Given the description of an element on the screen output the (x, y) to click on. 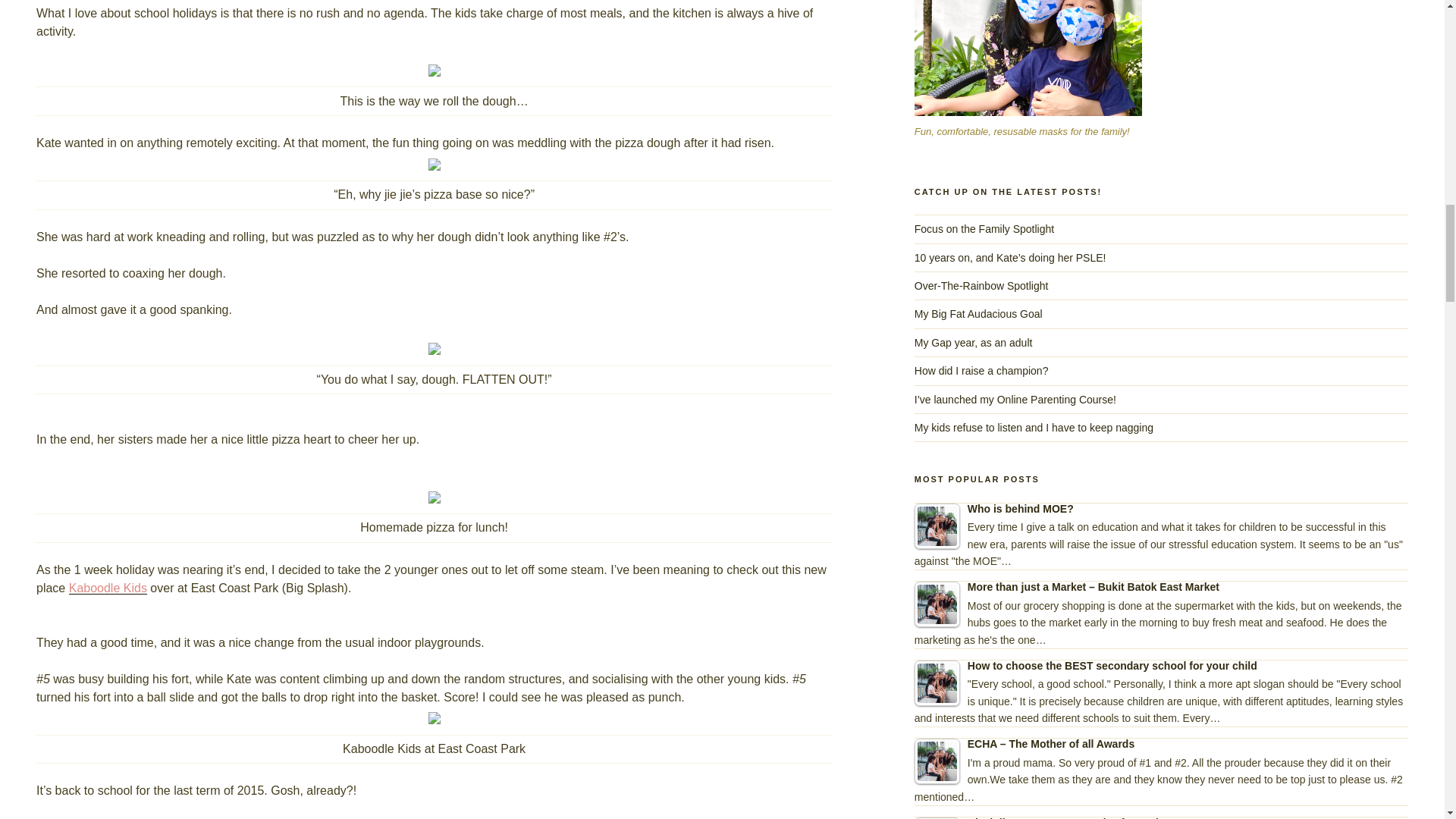
My kids refuse to listen and I have to keep nagging (1033, 427)
How did I raise a champion? (981, 370)
My Big Fat Audacious Goal (978, 313)
ECHA - The Mother of all Awards (936, 760)
Focus on the Family Spotlight (984, 228)
FACEWEDGE MASKS (1027, 58)
Over-The-Rainbow Spotlight (981, 285)
Kaboodle Kids (107, 587)
My Gap year, as an adult (973, 342)
More than just a Market - Bukit Batok East Market (936, 604)
How to choose the BEST secondary school for your child (936, 682)
Who is behind MOE? (936, 525)
